Given the description of an element on the screen output the (x, y) to click on. 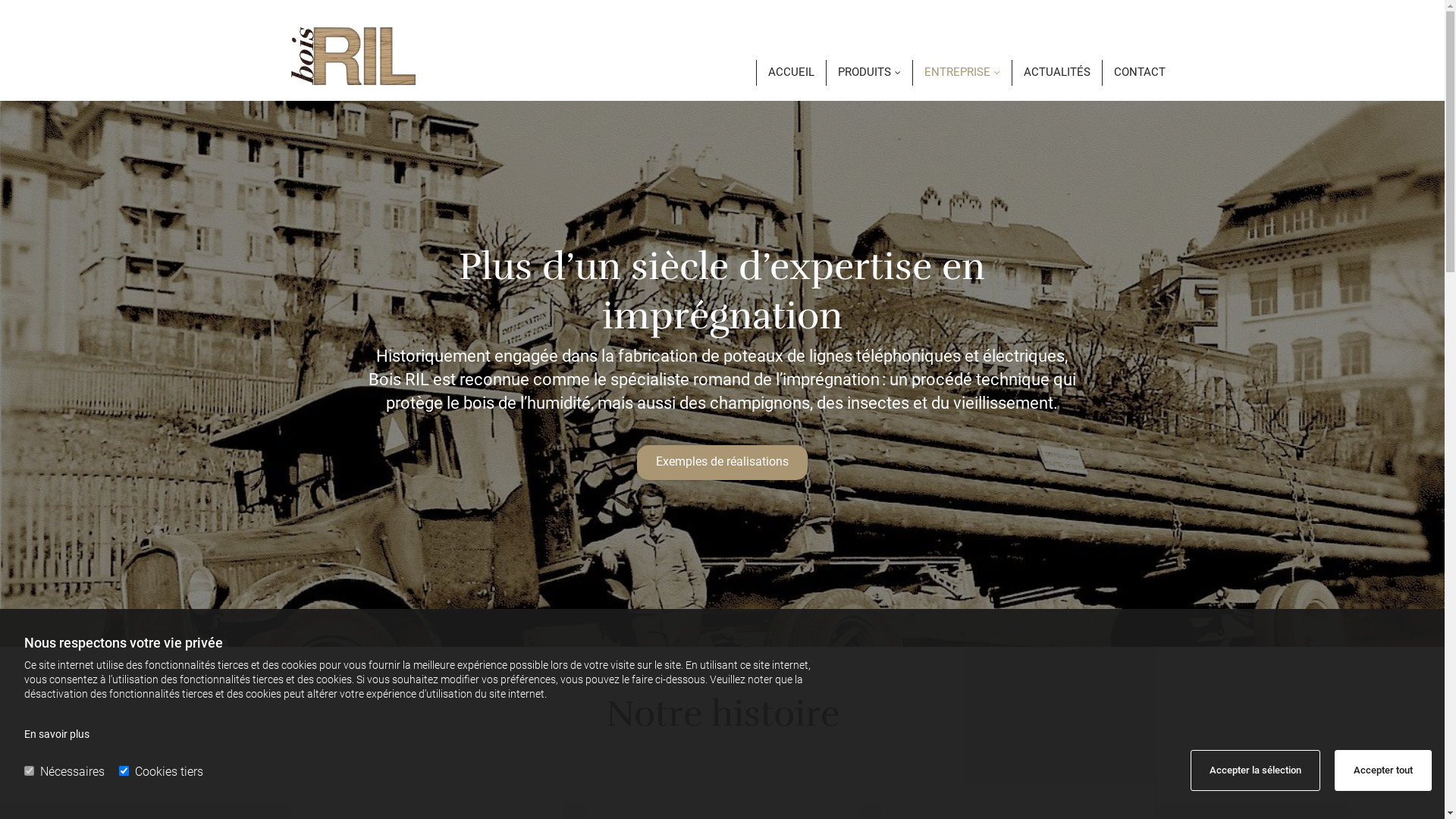
Accepter tout Element type: text (1382, 769)
En savoir plus Element type: text (56, 734)
ACCUEIL Element type: text (785, 72)
PRODUITS Element type: text (862, 72)
ENTREPRISE Element type: text (956, 72)
CONTACT Element type: text (1133, 72)
